Given the description of an element on the screen output the (x, y) to click on. 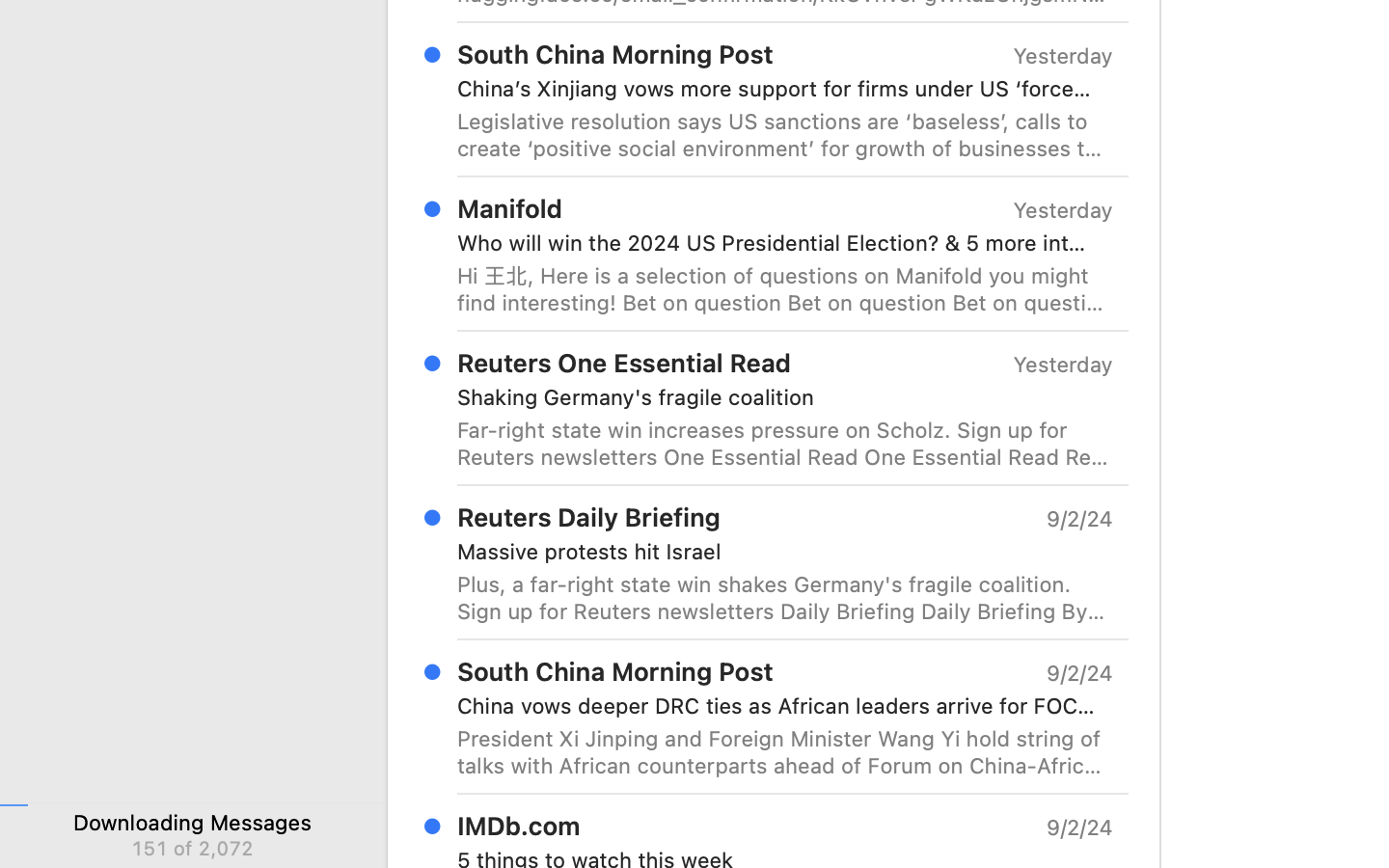
China’s Xinjiang vows more support for firms under US ‘forced labour’ sanctions Element type: AXStaticText (777, 88)
Shaking Germany's fragile coalition Element type: AXStaticText (777, 396)
Reuters Daily Briefing Element type: AXStaticText (589, 516)
Legislative resolution says US sanctions are ‘baseless’, calls to create ‘positive social environment’ for growth of businesses targeted. - South China Morning Post, SCMP, SCMP Today: Intl Edition - Legislative resolution says US sanctions are ‘baseless’, calls to create ‘positive social environment’ for growth of businesses targeted. Tuesday 3rd September, 2024 China politics & diplomacy ChinaChina’s Xinjiang vows more support for firms under US ‘forced labour’ sanctions3 Sep, 2024 - 04:36 pmLegislative resolution says US sanctions are ‘baseless’, calls to create ‘positive social environment’ for growth of businesses targeted. China11 dead in eastern China, driver detained after bus hits crowd outside school3 Sep, 2024 - 04:43 pm ChinaChinese researchers’ implant genetically modifies brain cells for neuron growth3 Sep, 2024 - 04:06 pm Featured Podcast3. Millennials, GenZ and hire education Video Of The Day China and Singapore embark on bigger joint navy exercise as South China Sea ten Element type: AXStaticText (784, 135)
2,072 new messages Element type: AXStaticText (191, 847)
